Given the description of an element on the screen output the (x, y) to click on. 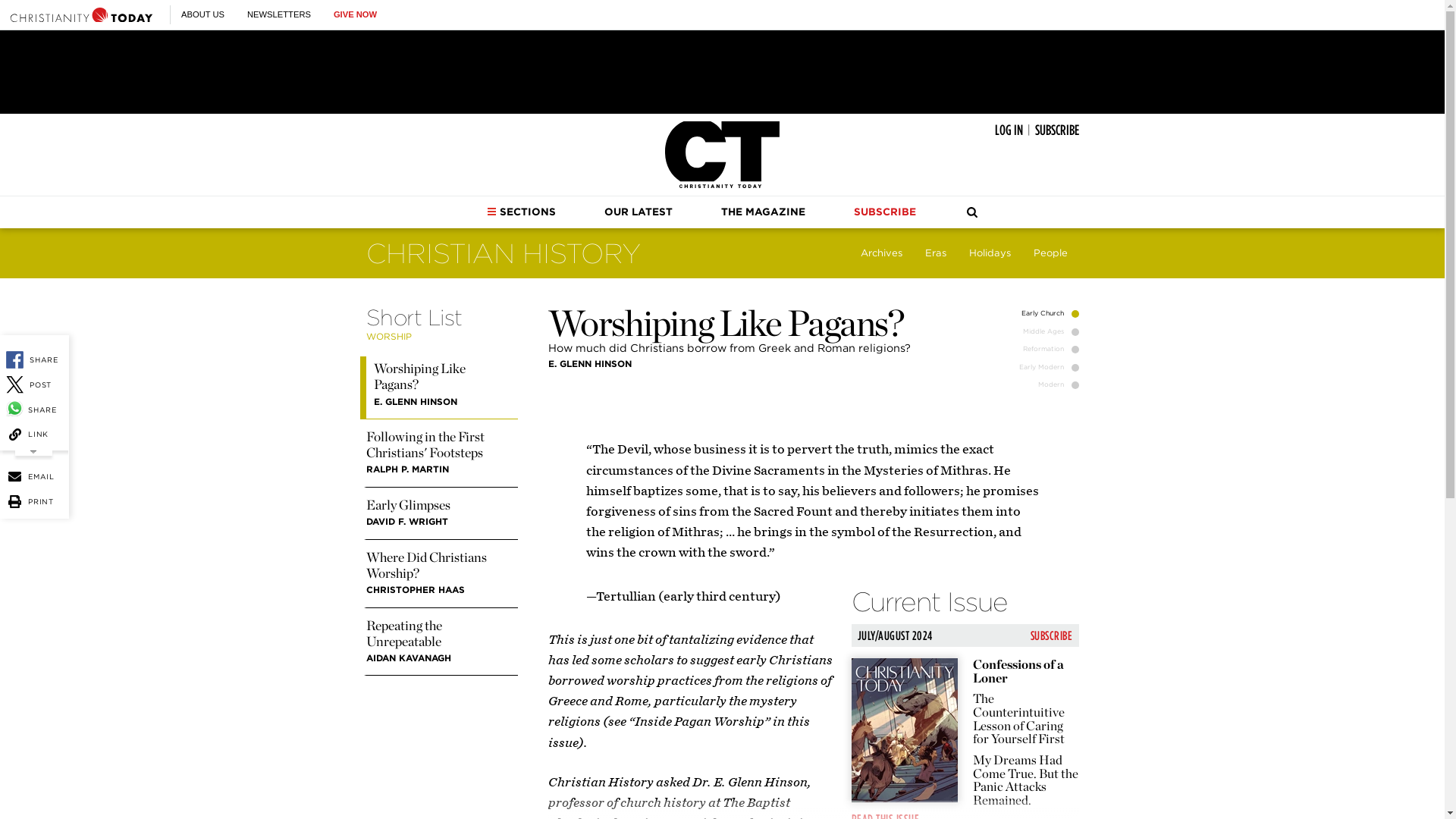
ABOUT US (202, 14)
Sections Dropdown (491, 211)
Christianity Today (721, 154)
3rd party ad content (721, 71)
SECTIONS (521, 212)
LOG IN (1008, 130)
SUBSCRIBE (1055, 130)
NEWSLETTERS (278, 14)
GIVE NOW (355, 14)
Christianity Today (81, 14)
